Given the description of an element on the screen output the (x, y) to click on. 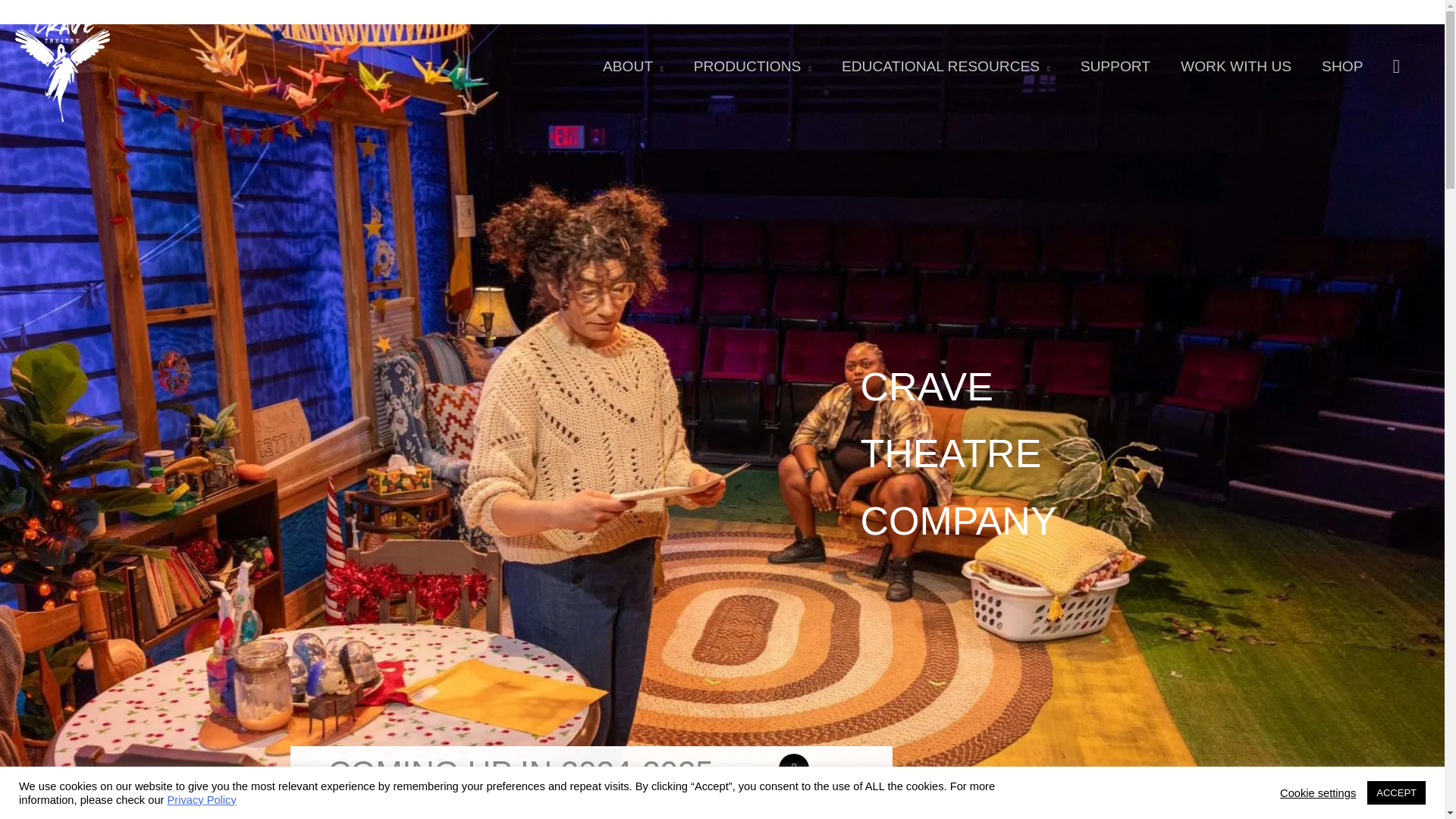
WORK WITH US (1236, 66)
PRODUCTIONS (752, 66)
SUPPORT (1115, 66)
EDUCATIONAL RESOURCES (946, 66)
SHOP (1341, 66)
ABOUT (633, 66)
COMING UP IN 2024-2025 (520, 772)
